Given the description of an element on the screen output the (x, y) to click on. 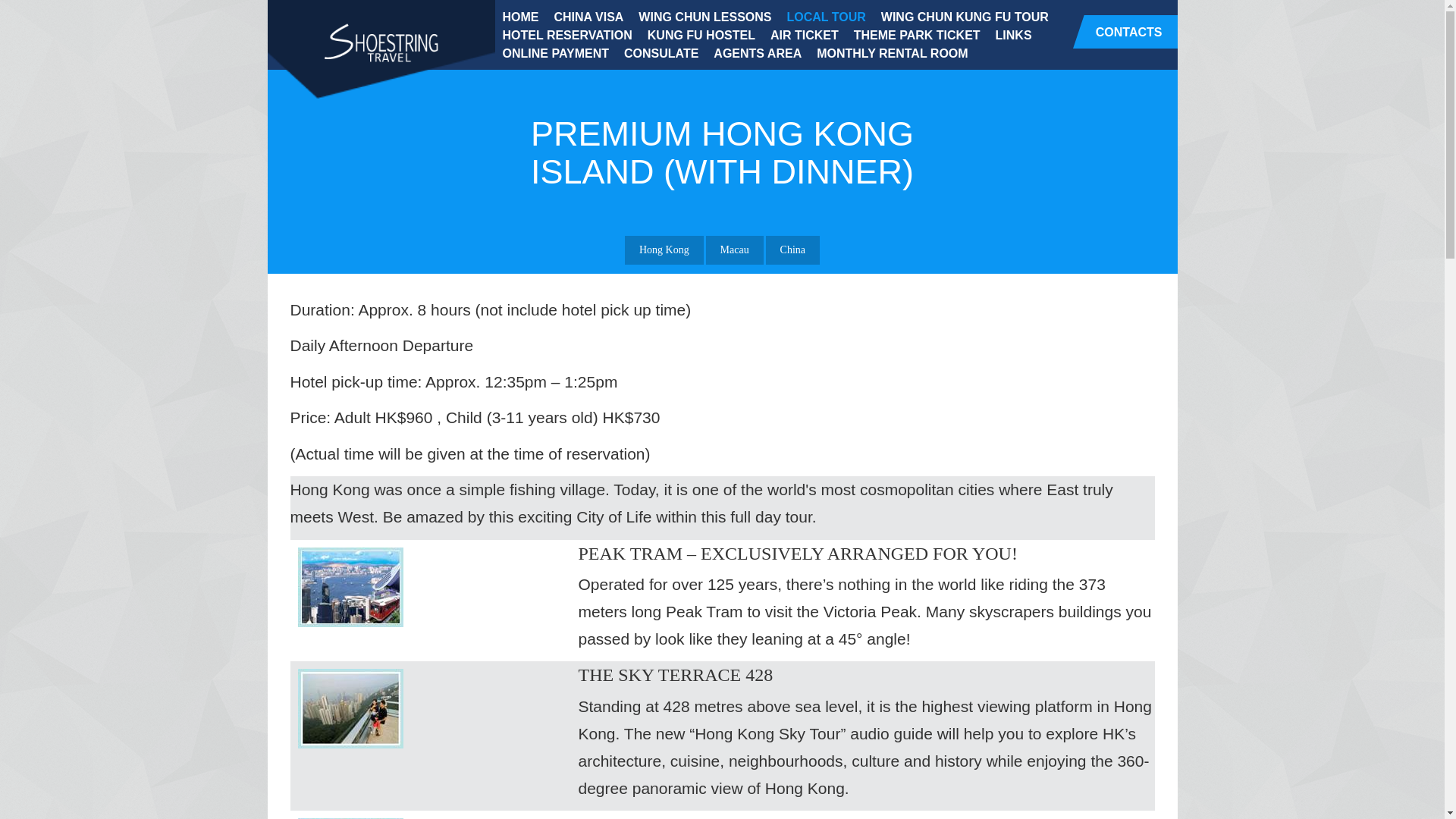
WING CHUN LESSONS (704, 16)
WING CHUN KUNG FU TOUR (965, 16)
AIR TICKET (803, 34)
CHINA VISA (588, 16)
CONTACTS (1125, 31)
THEME PARK TICKET (916, 34)
LOCAL TOUR (825, 16)
MONTHLY RENTAL ROOM (892, 53)
HOTEL RESERVATION (567, 34)
Hong Kong (663, 249)
CONSULATE (660, 53)
LINKS (1013, 34)
AGENTS AREA (757, 53)
Sheostring Travel (381, 44)
ONLINE PAYMENT (555, 53)
